Given the description of an element on the screen output the (x, y) to click on. 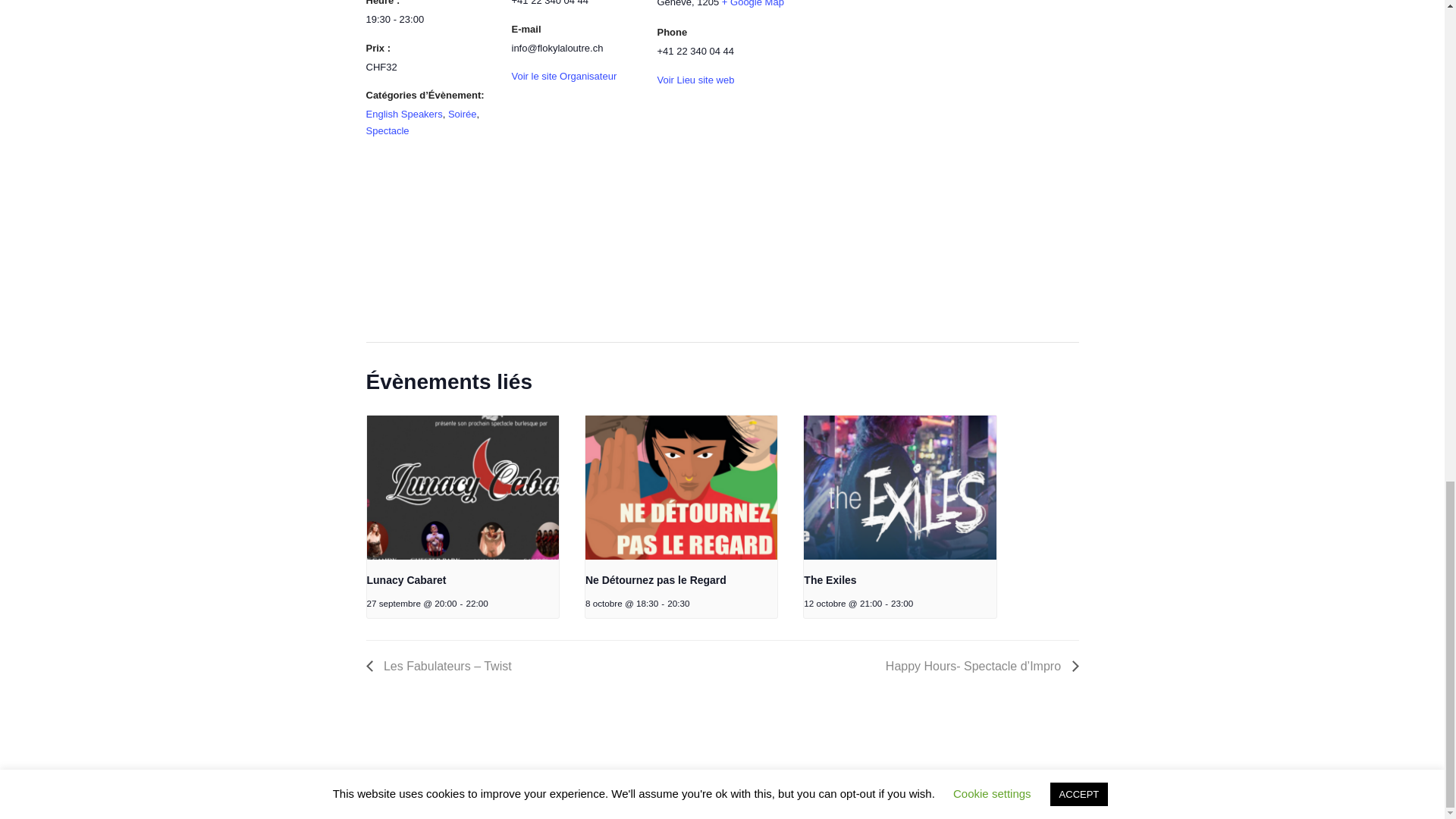
Voir Lieu site web (694, 79)
Cliquez pour voir une carte Google Map (753, 3)
Voir le site Organisateur (563, 75)
2024-03-16 (429, 19)
Spectacle (387, 130)
The Exiles (829, 580)
English Speakers (403, 113)
Lunacy Cabaret (406, 580)
